Given the description of an element on the screen output the (x, y) to click on. 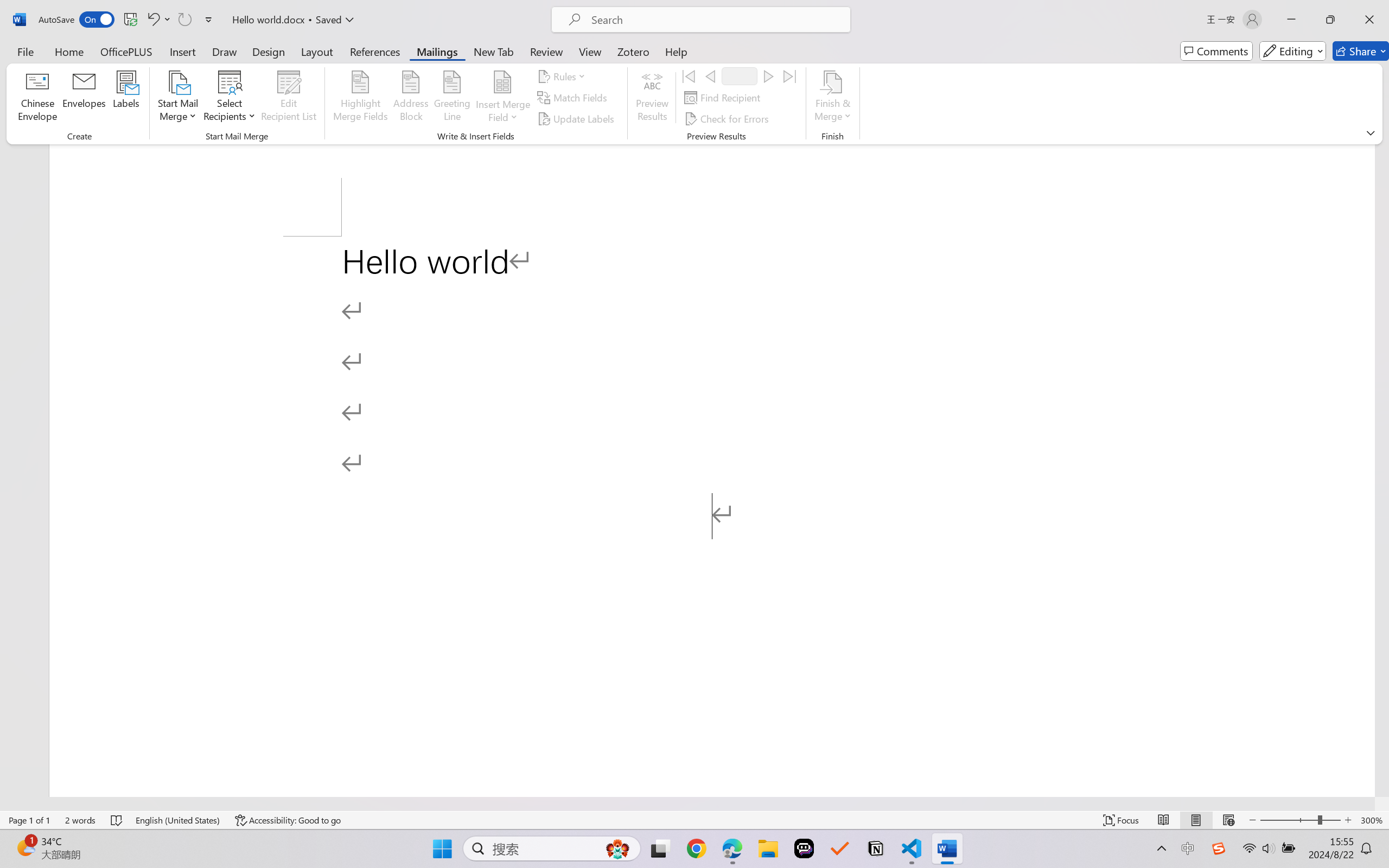
Spelling and Grammar Check No Errors (117, 819)
New Tab (493, 51)
Web Layout (1228, 819)
Accessibility Checker Accessibility: Good to go (288, 819)
Print Layout (1196, 819)
Mailings (437, 51)
Record (739, 76)
Comments (1216, 50)
View (589, 51)
Language English (United States) (178, 819)
Finish & Merge (832, 97)
Next (768, 75)
Zoom In (1348, 819)
Design (268, 51)
Editing (1292, 50)
